Given the description of an element on the screen output the (x, y) to click on. 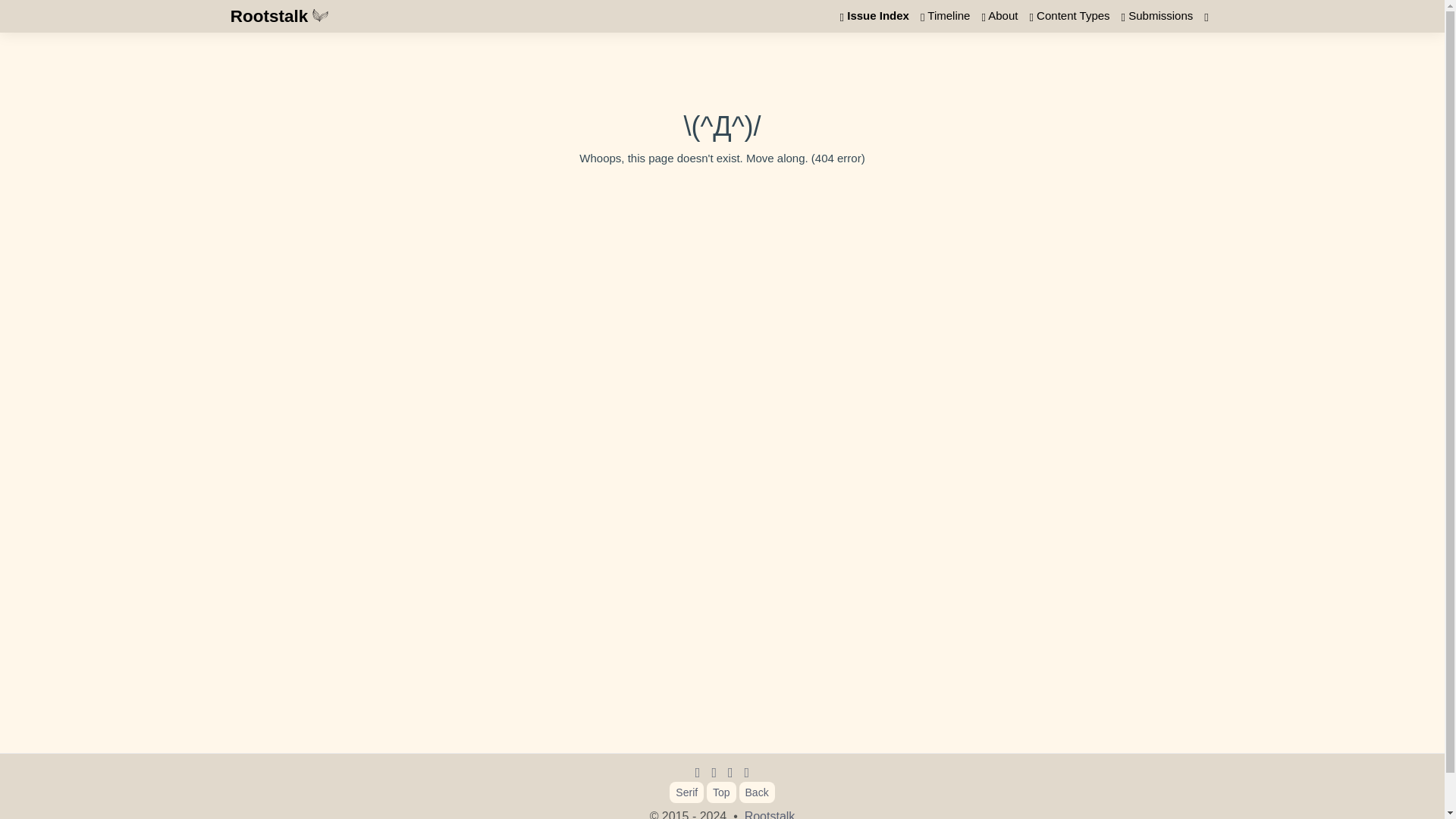
Top (721, 792)
Timeline (944, 16)
About (999, 16)
Issue Index (874, 16)
Back (756, 792)
Instagram (746, 770)
Serif (686, 792)
Content Types (1069, 16)
About (999, 16)
Timeline (944, 16)
